Given the description of an element on the screen output the (x, y) to click on. 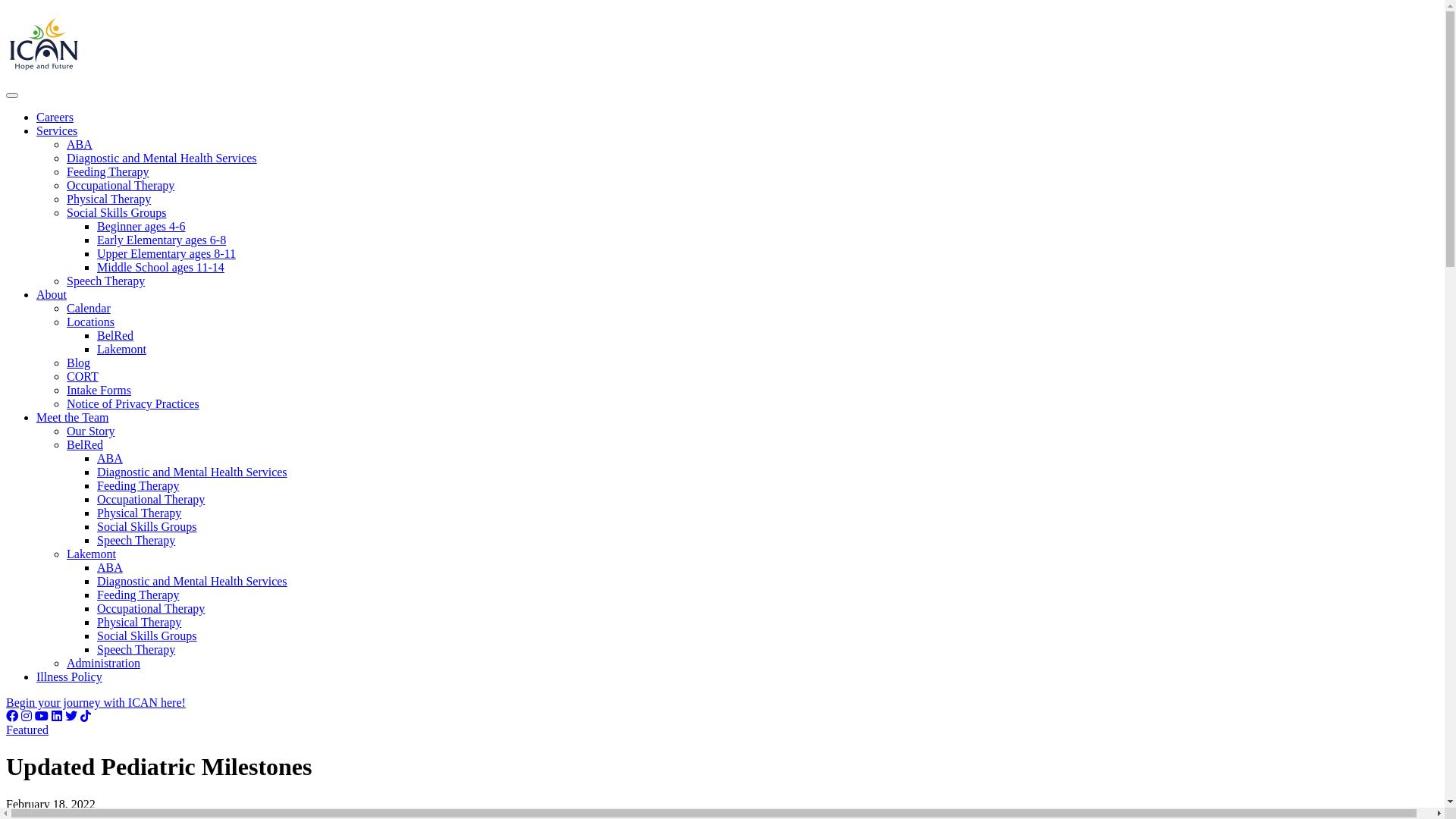
Diagnostic and Mental Health Services Element type: text (161, 157)
Early Elementary ages 6-8 Element type: text (161, 239)
ABA Element type: text (79, 144)
About Element type: text (51, 294)
Meet the Team Element type: text (72, 417)
Feeding Therapy Element type: text (107, 171)
CORT Element type: text (82, 376)
Physical Therapy Element type: text (139, 621)
Locations Element type: text (90, 321)
Our Story Element type: text (90, 430)
ABA Element type: text (109, 457)
Calendar Element type: text (88, 307)
Lakemont Element type: text (121, 348)
Lakemont Element type: text (91, 553)
Notice of Privacy Practices Element type: text (132, 403)
Intake Forms Element type: text (98, 389)
Careers Element type: text (54, 116)
BelRed Element type: text (115, 335)
Speech Therapy Element type: text (136, 649)
Feeding Therapy Element type: text (138, 485)
Social Skills Groups Element type: text (116, 212)
Social Skills Groups Element type: text (147, 526)
Diagnostic and Mental Health Services Element type: text (192, 580)
BelRed Element type: text (84, 444)
Middle School ages 11-14 Element type: text (160, 266)
Occupational Therapy Element type: text (150, 608)
Physical Therapy Element type: text (108, 198)
Blog Element type: text (78, 362)
Social Skills Groups Element type: text (147, 635)
ABA Element type: text (109, 567)
Occupational Therapy Element type: text (150, 498)
Occupational Therapy Element type: text (120, 184)
Beginner ages 4-6 Element type: text (141, 225)
Speech Therapy Element type: text (136, 539)
Illness Policy Element type: text (69, 676)
Begin your journey with ICAN here! Element type: text (95, 702)
Administration Element type: text (103, 662)
Featured Element type: text (27, 729)
Upper Elementary ages 8-11 Element type: text (166, 253)
Feeding Therapy Element type: text (138, 594)
Physical Therapy Element type: text (139, 512)
Services Element type: text (56, 130)
Speech Therapy Element type: text (105, 280)
Diagnostic and Mental Health Services Element type: text (192, 471)
